Given the description of an element on the screen output the (x, y) to click on. 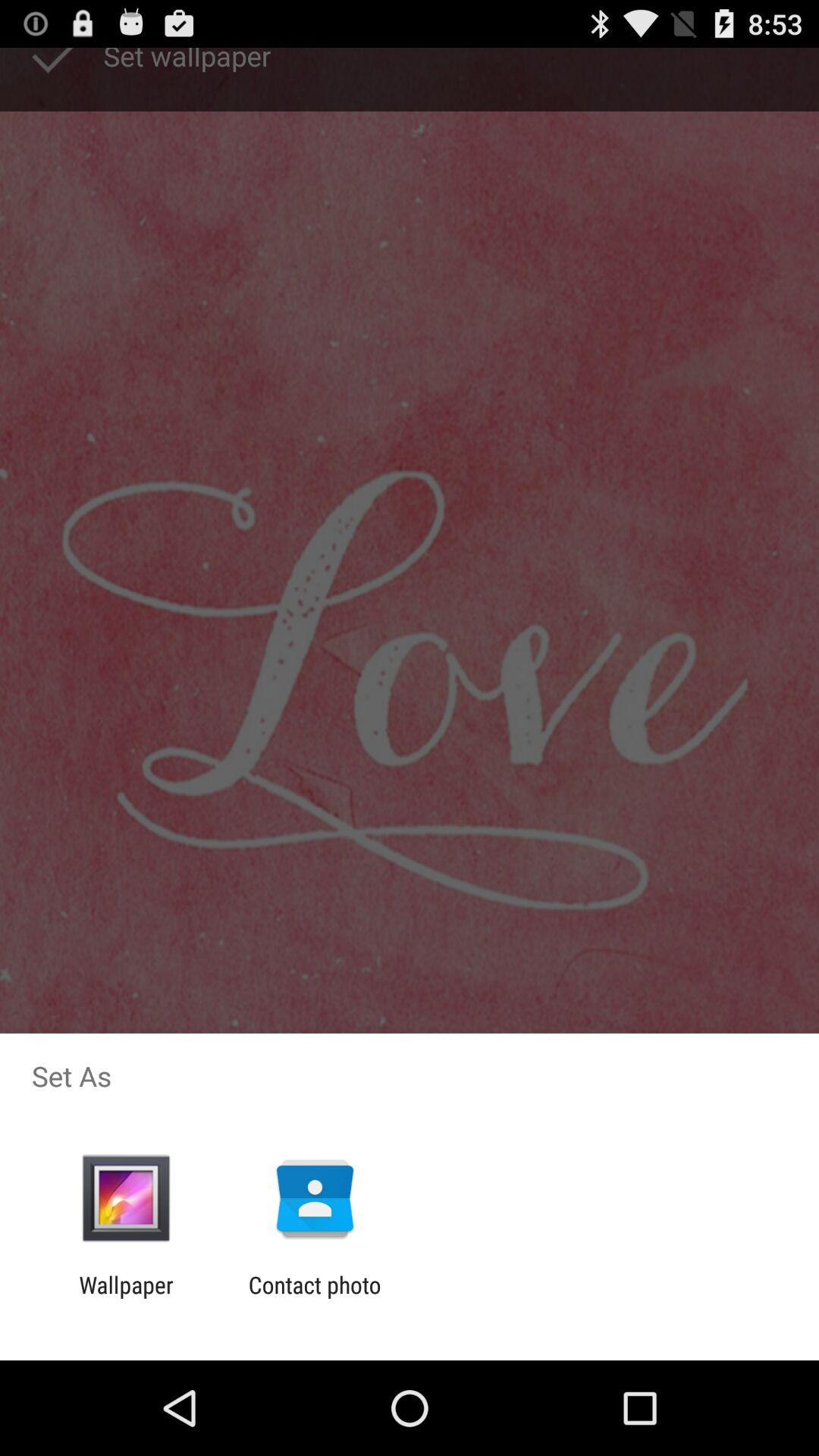
choose item next to the contact photo item (126, 1298)
